Given the description of an element on the screen output the (x, y) to click on. 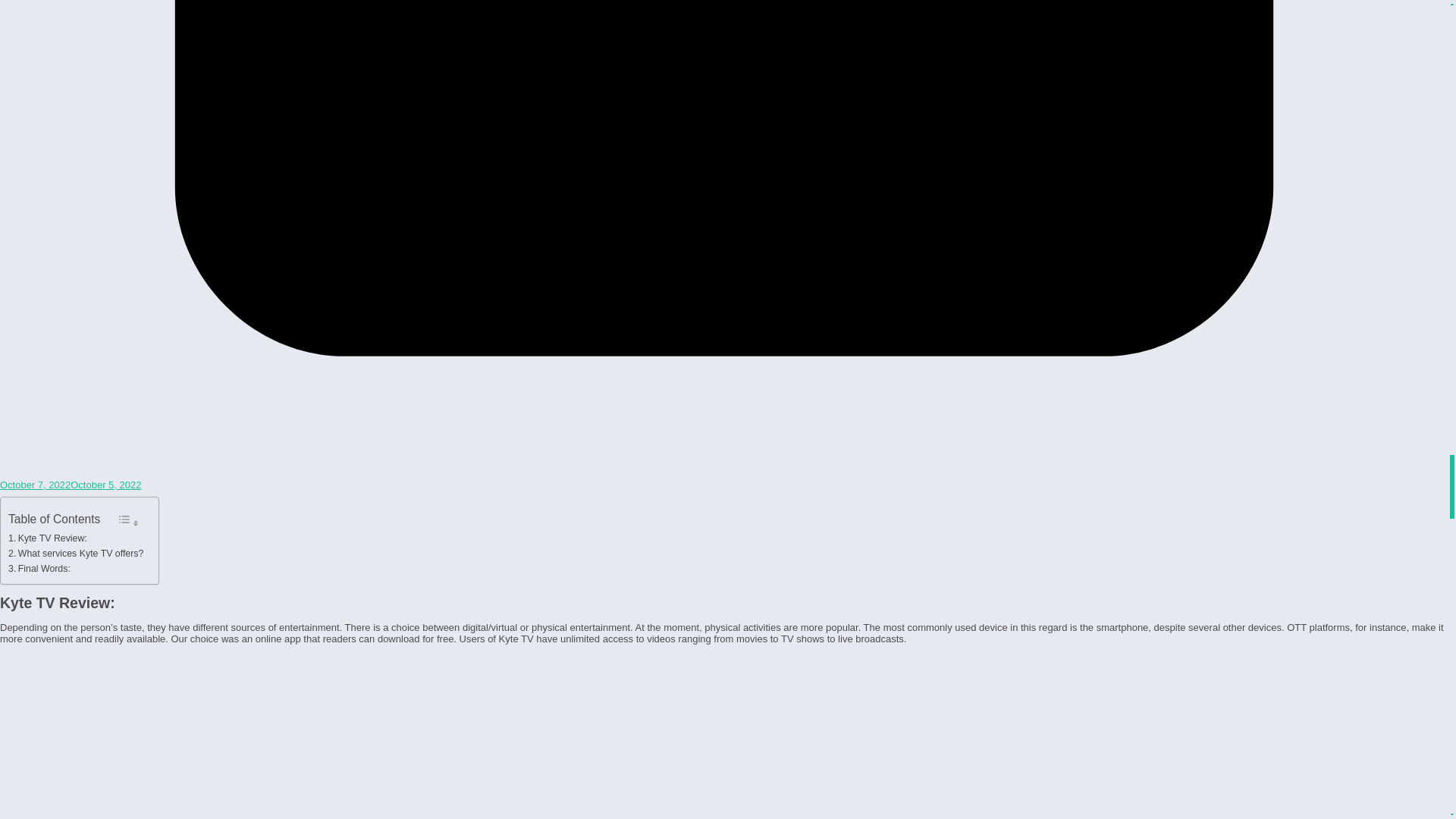
Kyte TV Review: (47, 539)
Final Words: (38, 568)
What services Kyte TV offers? (75, 554)
Final Words: (38, 568)
Kyte TV Review: (47, 539)
What services Kyte TV offers? (75, 554)
